Given the description of an element on the screen output the (x, y) to click on. 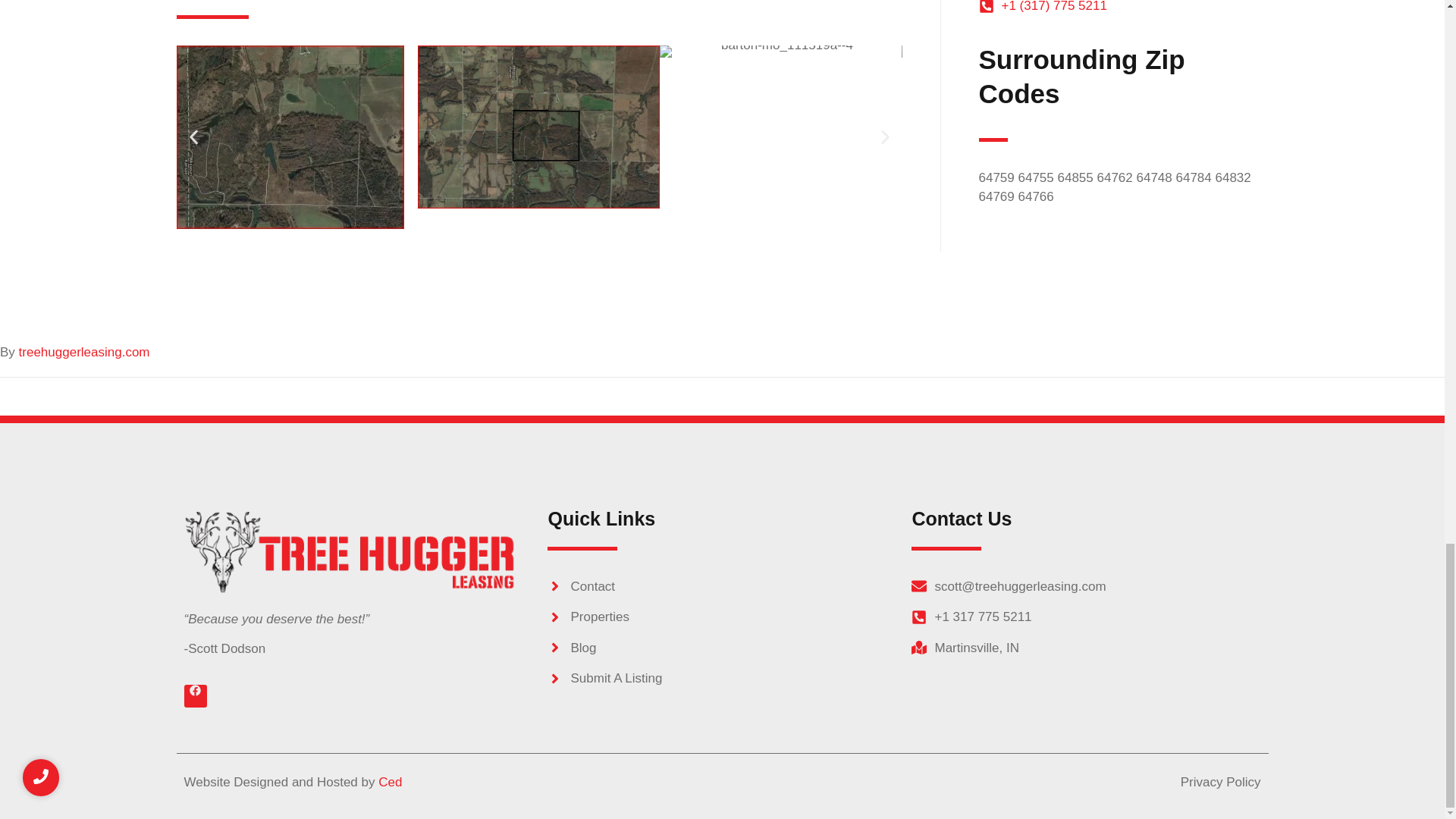
treehuggerleasing.com (83, 351)
Properties (721, 617)
Blog (721, 648)
Privacy Policy (1220, 782)
Ced (389, 781)
Contact (721, 587)
Posts by treehuggerleasing.com (83, 351)
